Given the description of an element on the screen output the (x, y) to click on. 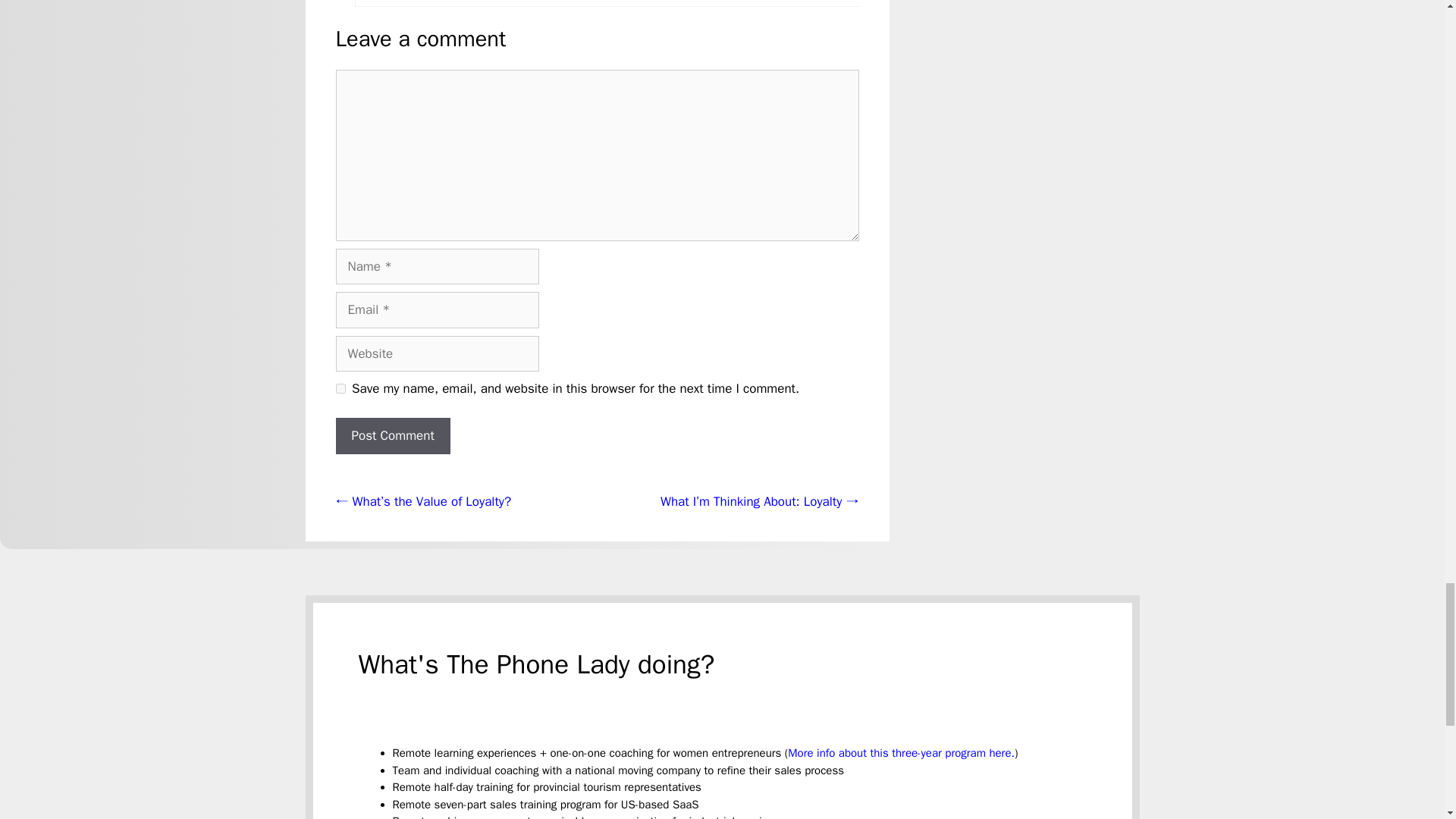
Post Comment (391, 435)
yes (339, 388)
